Given the description of an element on the screen output the (x, y) to click on. 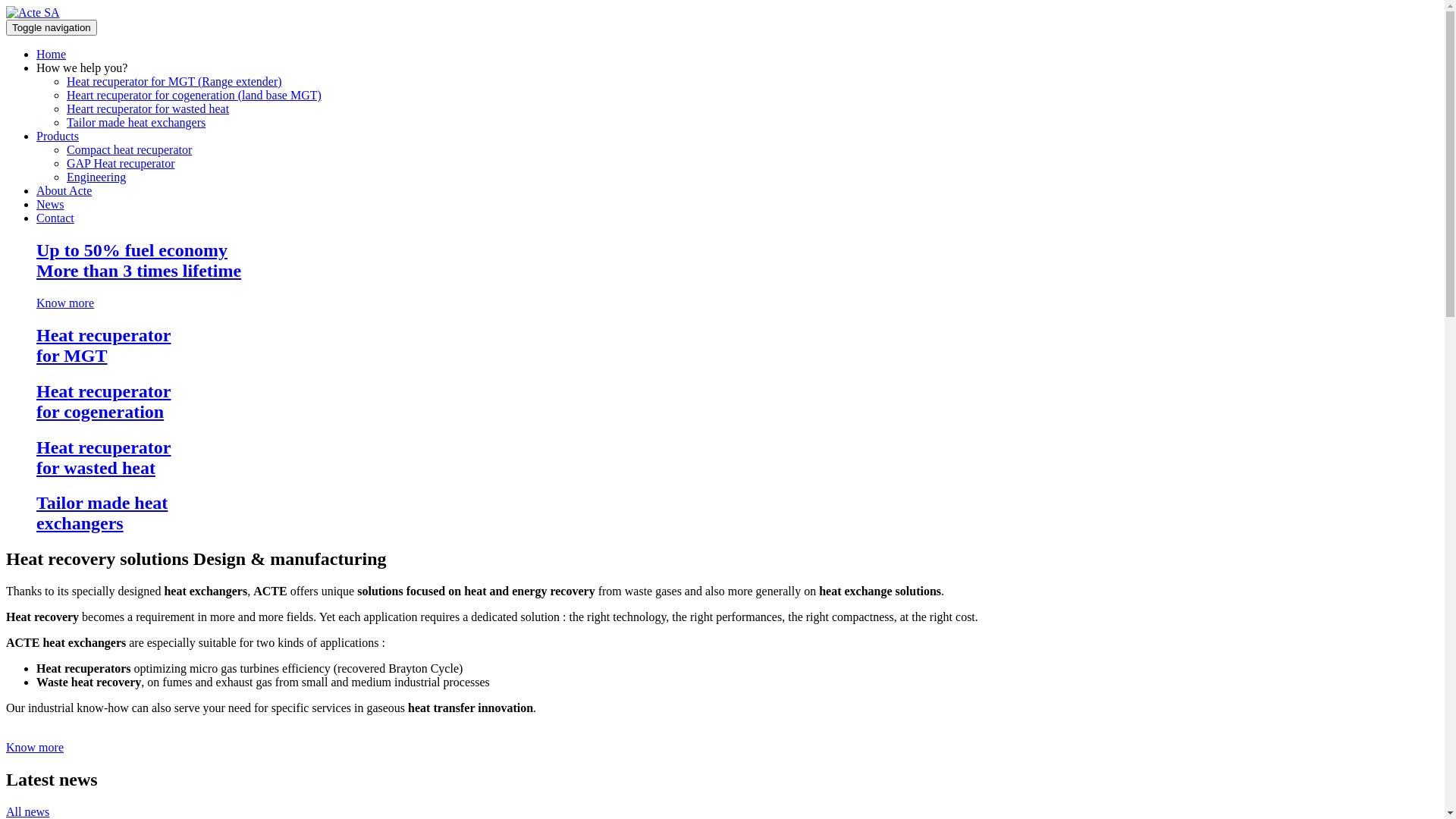
Products Element type: text (57, 135)
GAP Heat recuperator Element type: text (120, 162)
Heat recuperator
for cogeneration Element type: text (722, 401)
News Element type: text (49, 203)
Heart recuperator for cogeneration (land base MGT) Element type: text (193, 94)
About Acte Element type: text (63, 190)
Contact Element type: text (55, 217)
Tailor made heat exchangers Element type: text (135, 122)
Home Element type: text (50, 53)
Heat recuperator
for MGT Element type: text (722, 345)
Compact heat recuperator Element type: text (128, 149)
Know more Element type: text (34, 746)
Tailor made heat
exchangers Element type: text (722, 512)
Toggle navigation Element type: text (51, 27)
How we help you? Element type: text (81, 67)
All news Element type: text (27, 811)
Heat recuperator
for wasted heat Element type: text (722, 457)
Up to 50% fuel economy
More than 3 times lifetime
Know more Element type: text (722, 275)
Heat recuperator for MGT (Range extender) Element type: text (174, 81)
Heart recuperator for wasted heat Element type: text (147, 108)
Engineering Element type: text (95, 176)
